Given the description of an element on the screen output the (x, y) to click on. 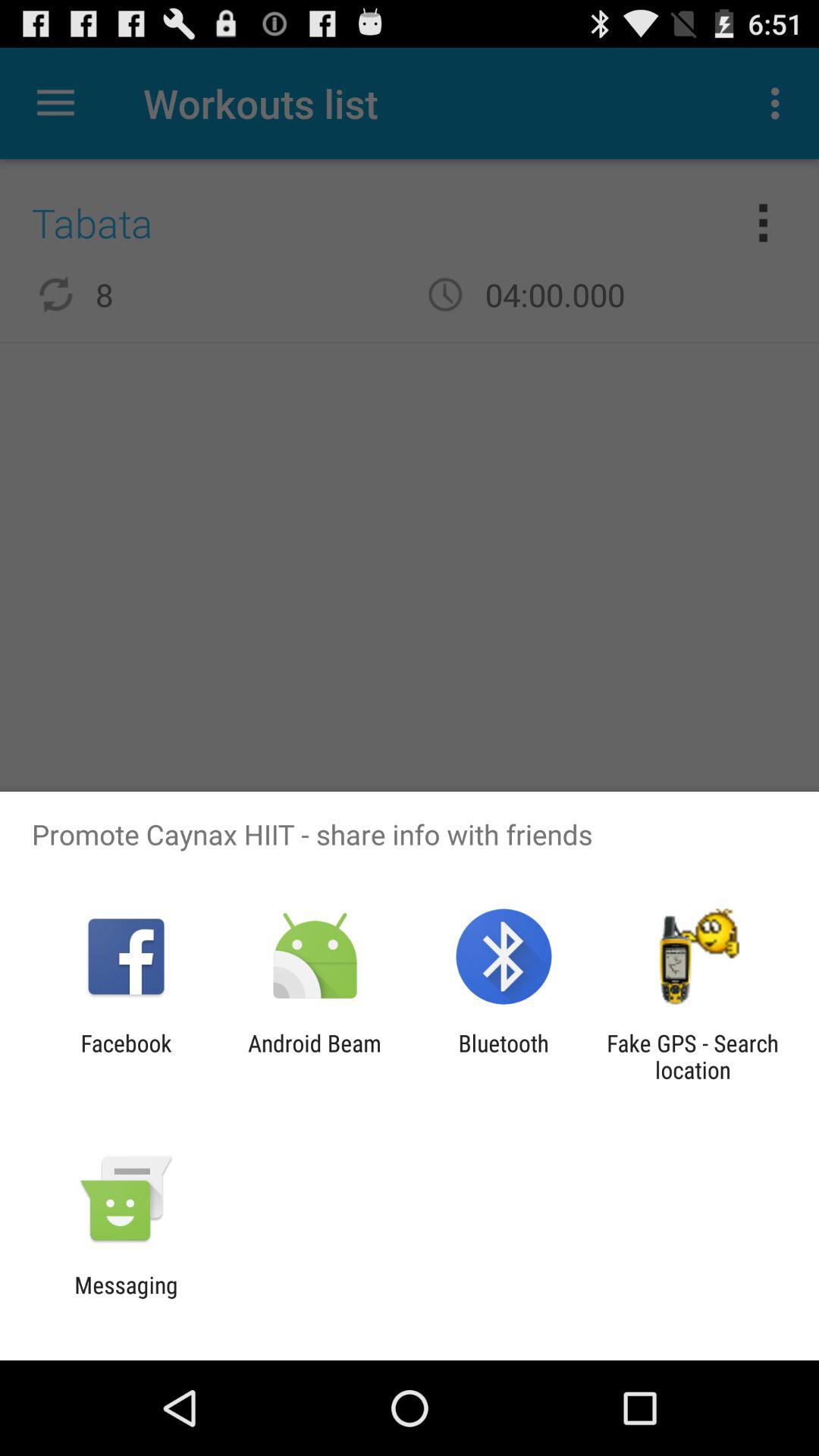
turn off item next to the fake gps search app (503, 1056)
